Given the description of an element on the screen output the (x, y) to click on. 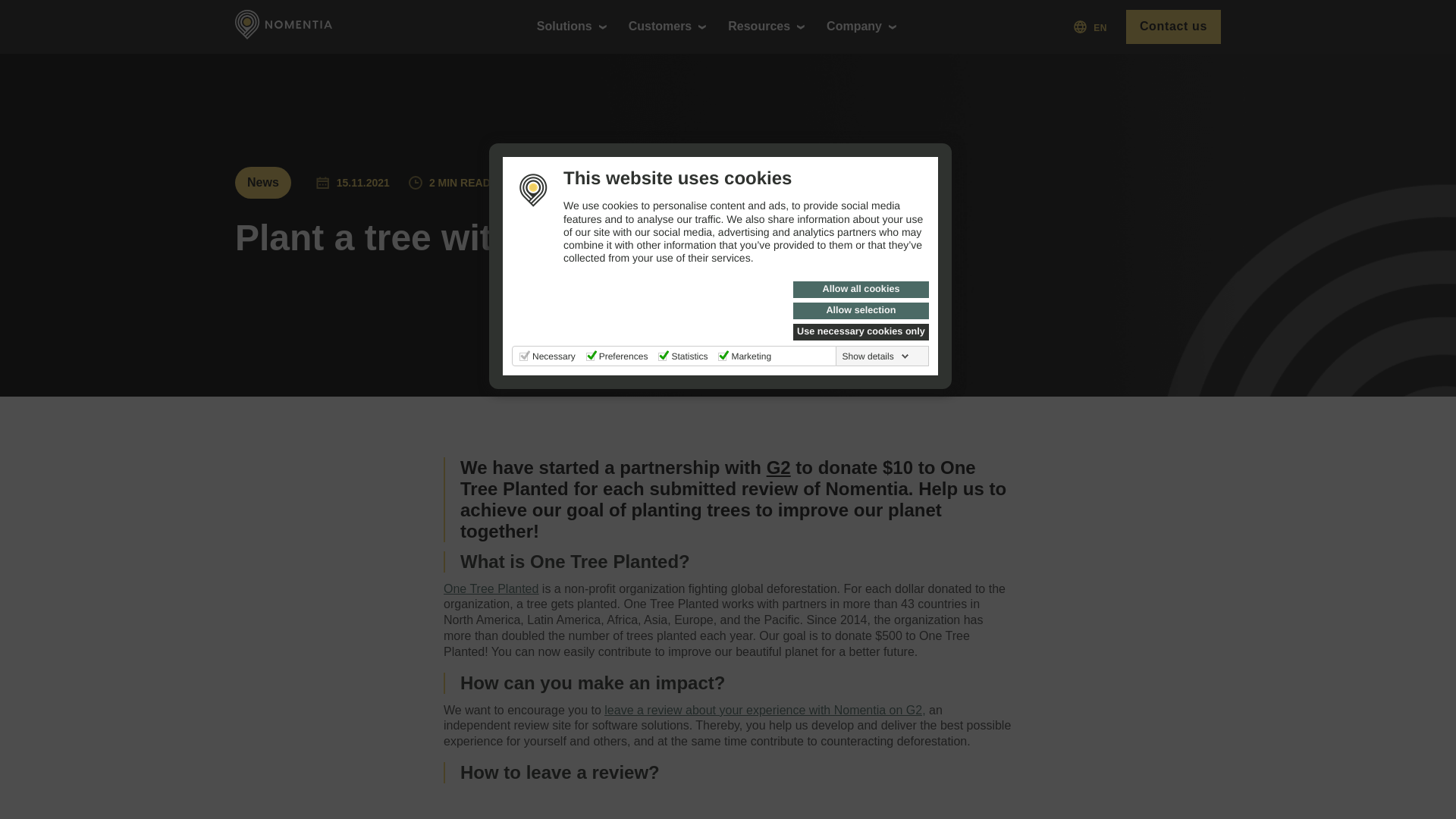
Allow selection (860, 310)
Allow all cookies (860, 289)
Show details (876, 356)
Use necessary cookies only (860, 331)
